Given the description of an element on the screen output the (x, y) to click on. 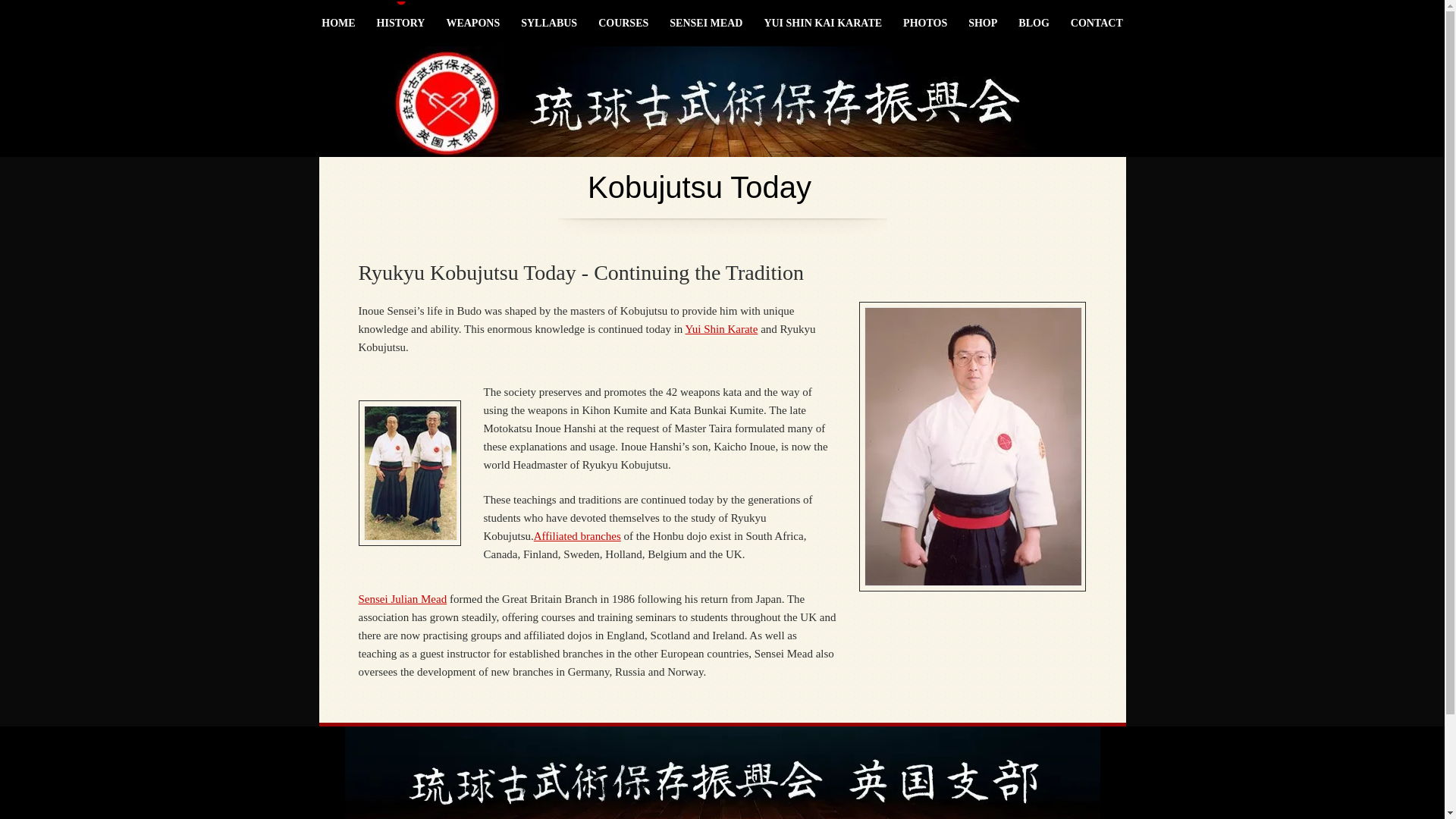
SHOP (982, 22)
PHOTOS (925, 22)
WEAPONS (473, 22)
Yui Shin Karate (721, 328)
HISTORY (400, 22)
SENSEI MEAD (705, 22)
HOME (338, 22)
YUI SHIN KAI KARATE (822, 22)
CONTACT (1096, 22)
SYLLABUS (549, 22)
COURSES (623, 22)
BLOG (1033, 22)
